Given the description of an element on the screen output the (x, y) to click on. 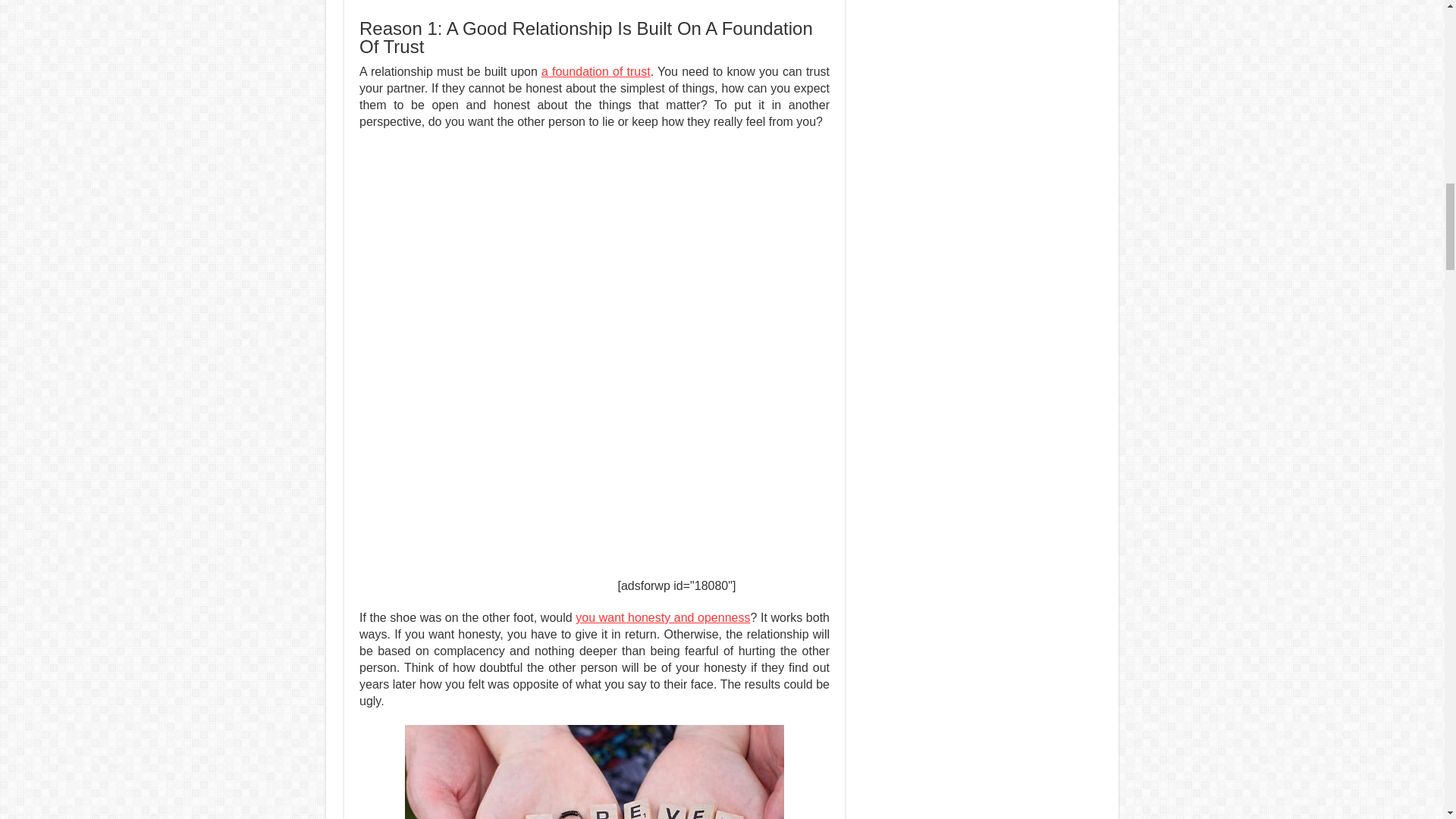
a foundation of trust (595, 71)
you want honesty and openness (662, 617)
